Given the description of an element on the screen output the (x, y) to click on. 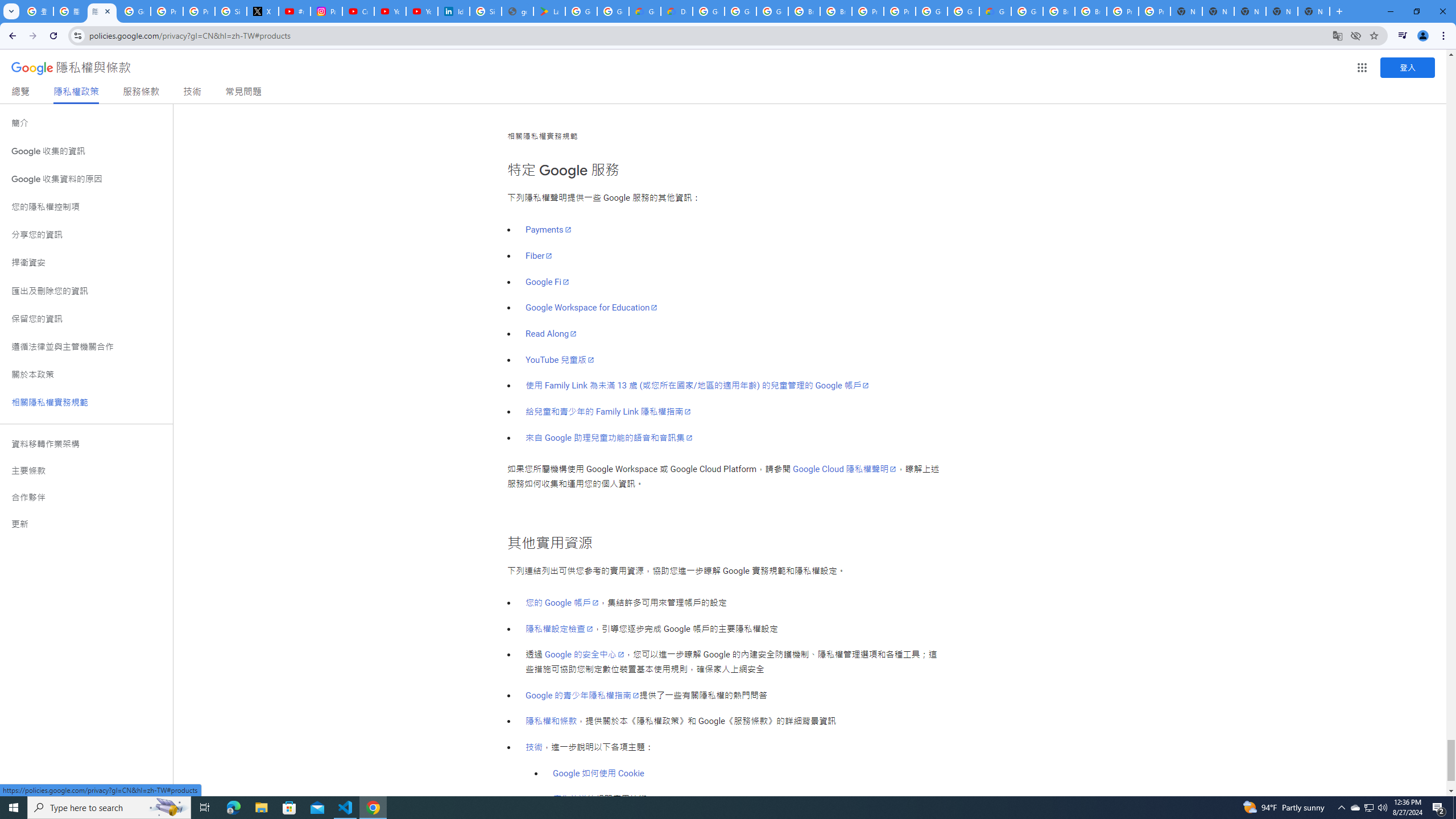
Fiber (539, 255)
Google Cloud Platform (963, 11)
Google Cloud Platform (708, 11)
Google Fi (547, 281)
Government | Google Cloud (644, 11)
